Given the description of an element on the screen output the (x, y) to click on. 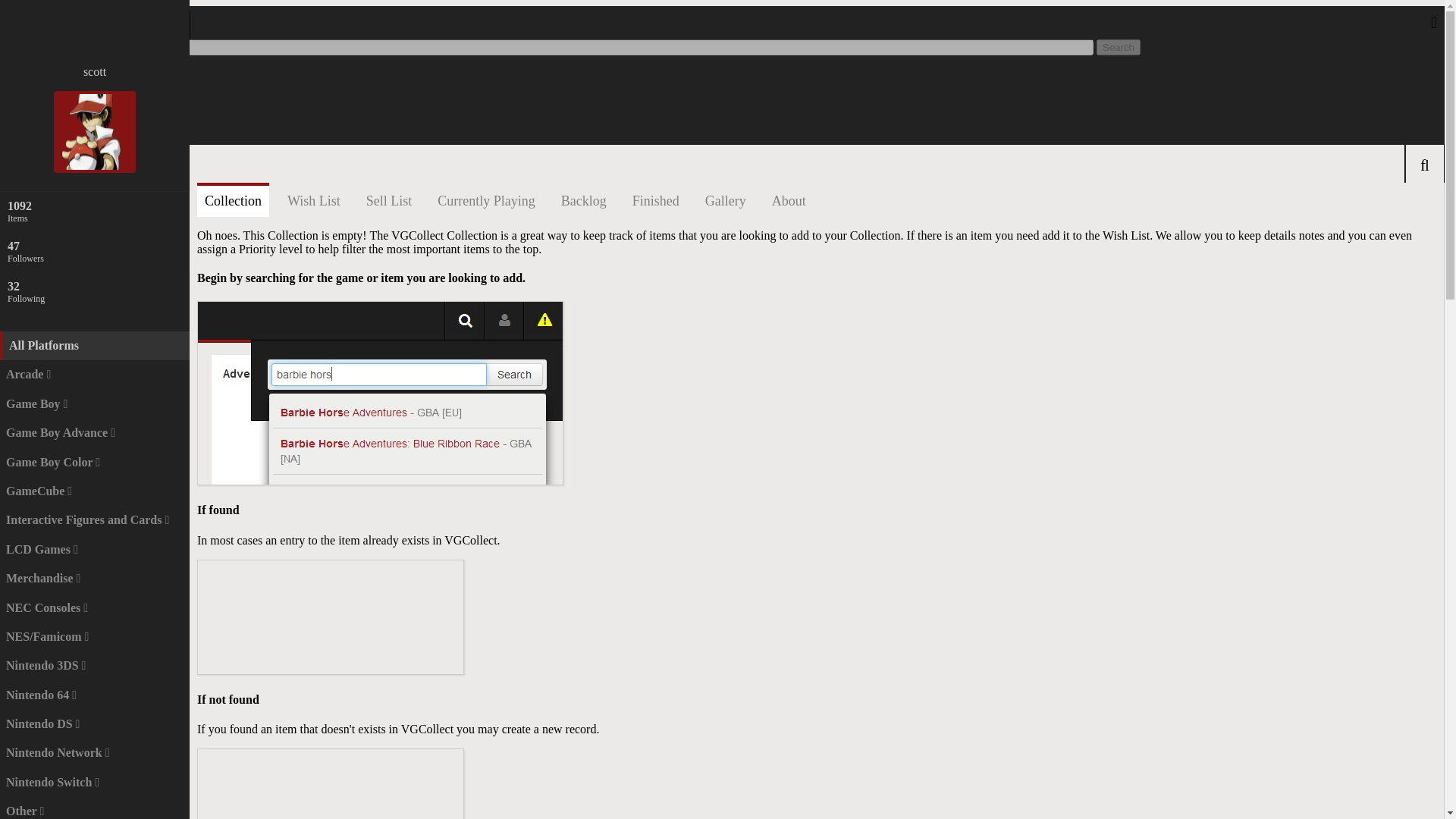
Random (64, 137)
Advanced Search (87, 68)
Browse (61, 82)
Sign Up (63, 109)
Search (94, 211)
Login (94, 291)
All Platforms (1118, 47)
